Given the description of an element on the screen output the (x, y) to click on. 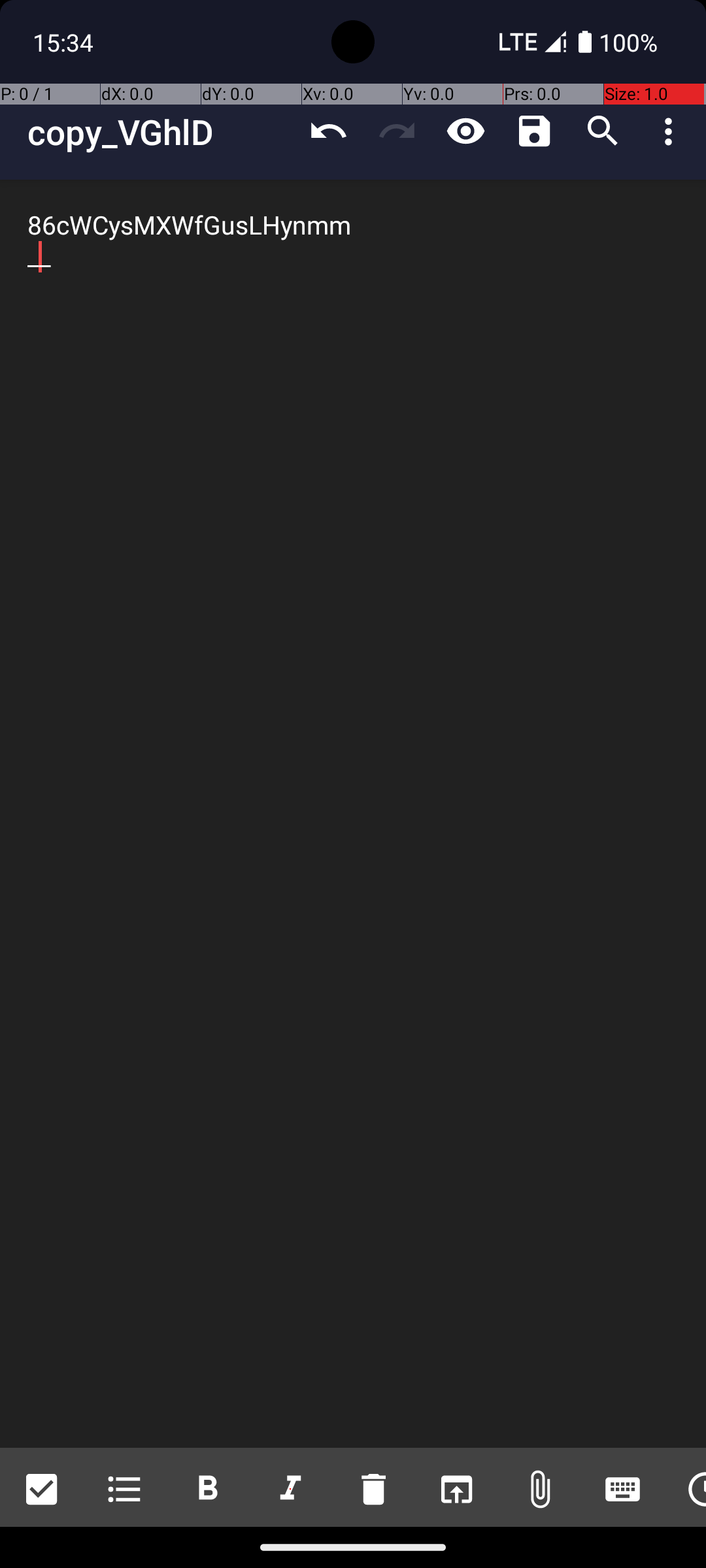
copy_VGhlD Element type: android.widget.TextView (160, 131)
86cWCysMXWfGusLHynmm
__ Element type: android.widget.EditText (353, 813)
